Given the description of an element on the screen output the (x, y) to click on. 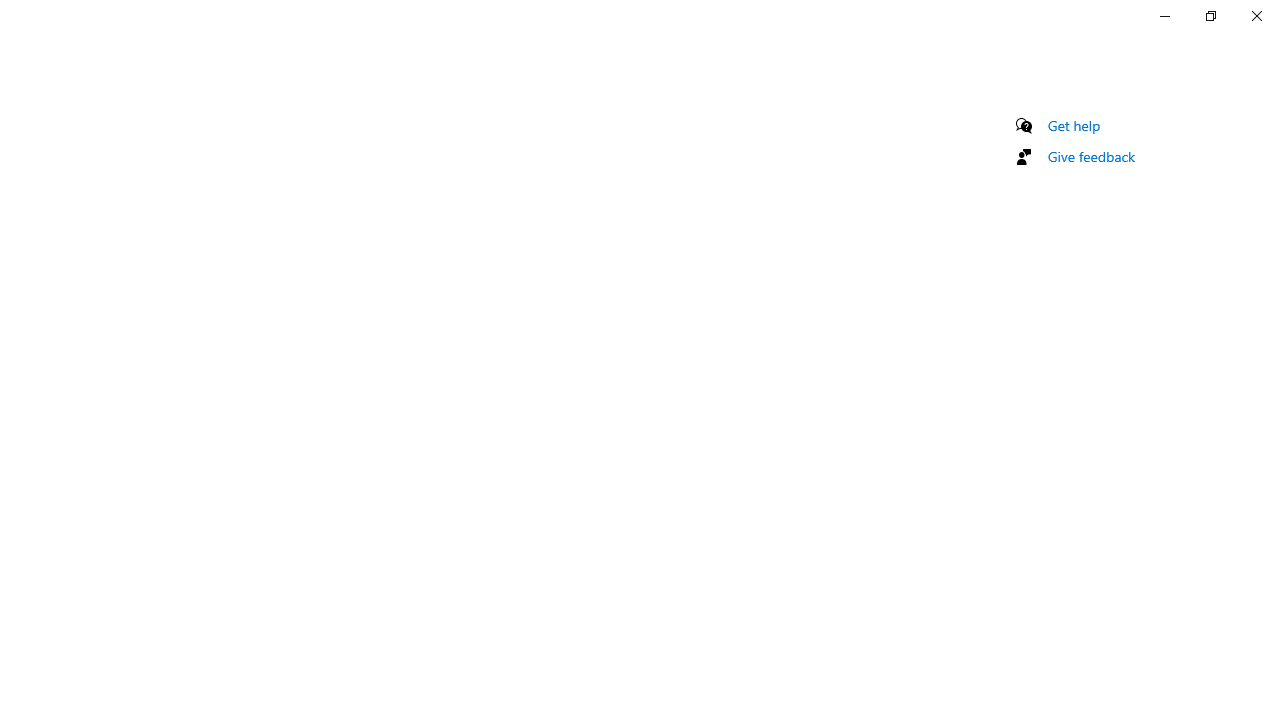
Give feedback (1091, 156)
